Given the description of an element on the screen output the (x, y) to click on. 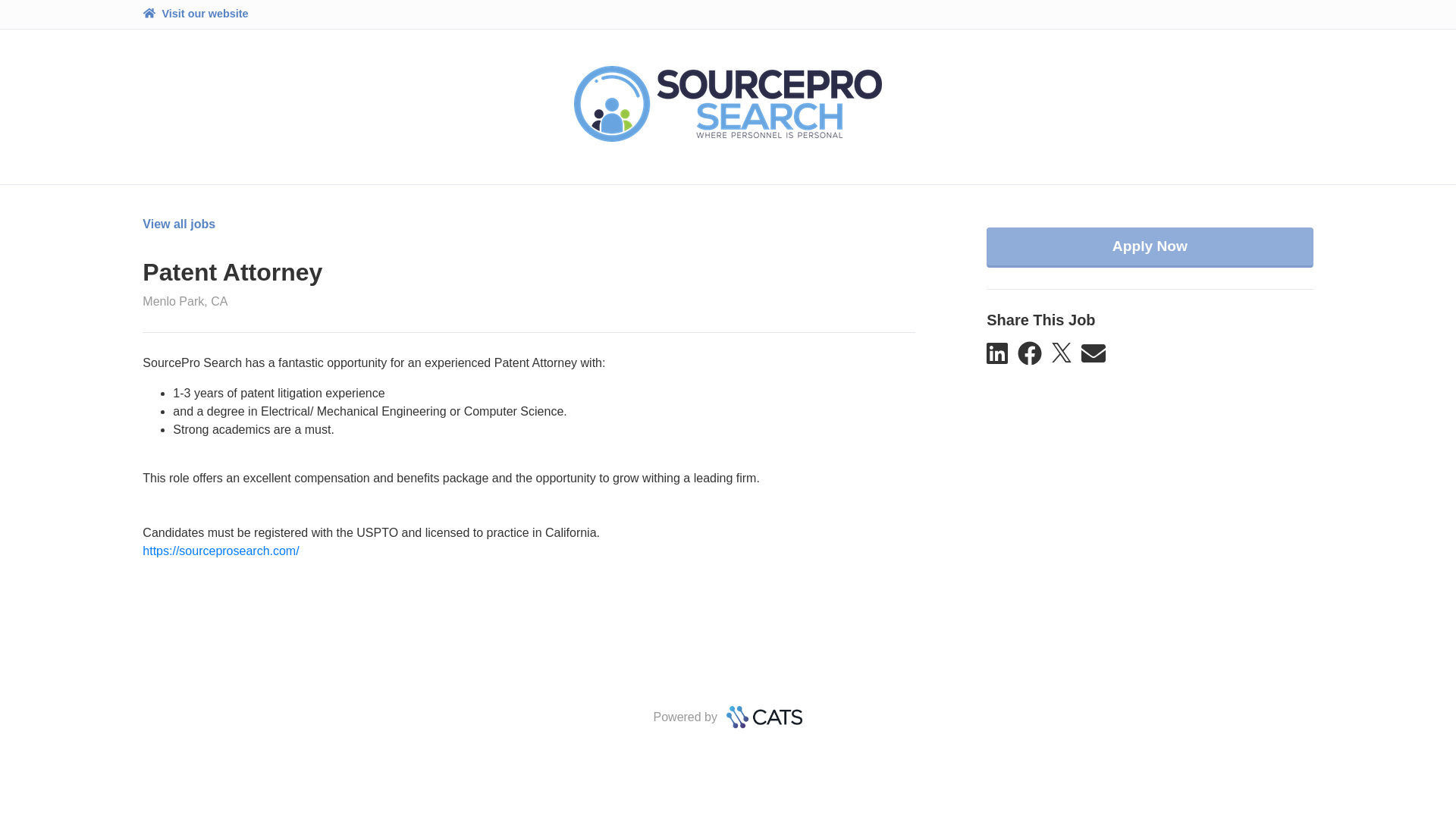
Apply Now (1150, 247)
Visit our website (194, 13)
View all jobs (178, 224)
